Given the description of an element on the screen output the (x, y) to click on. 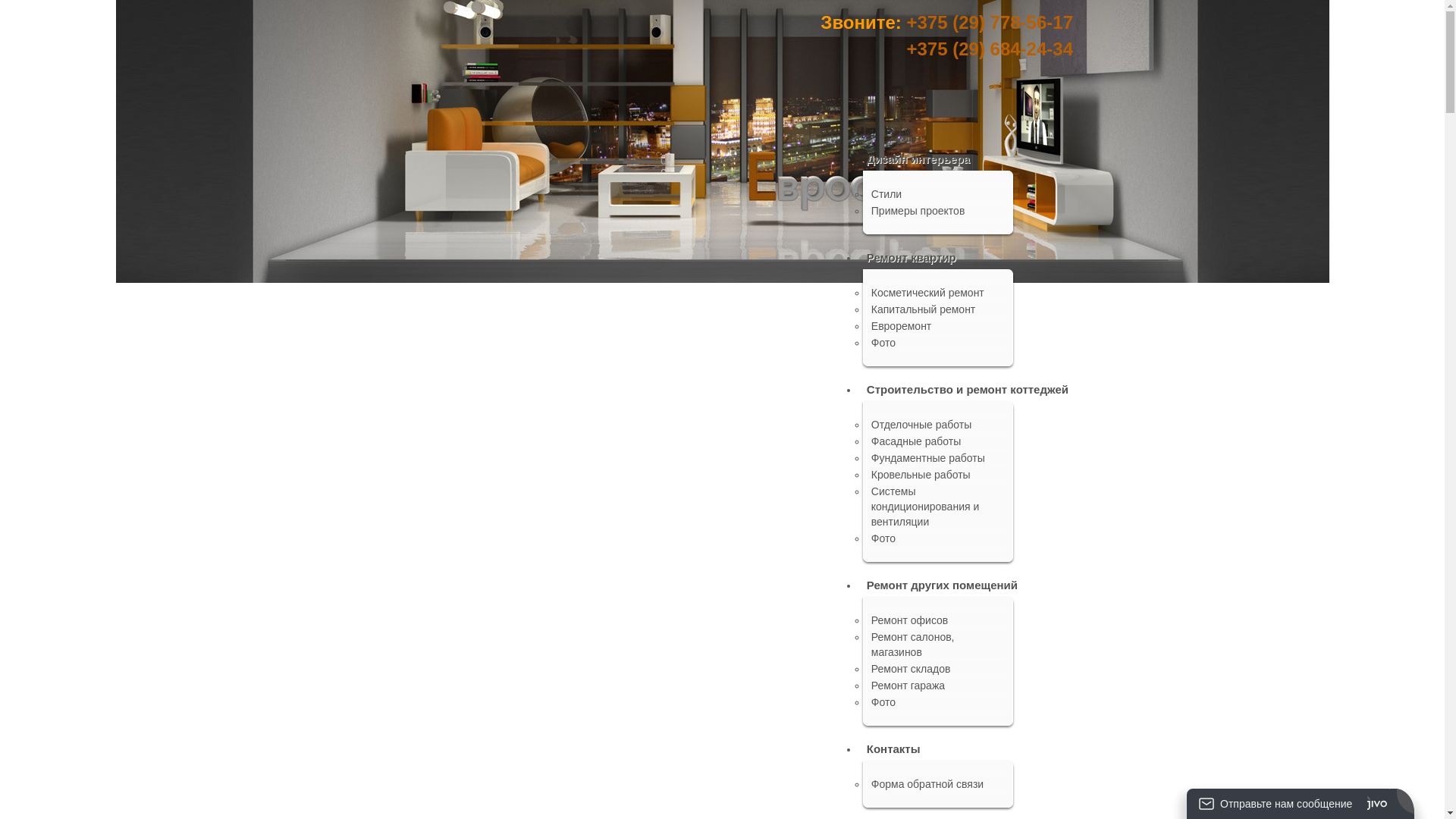
+375 (29) 778-56-17 Element type: text (989, 22)
+375 (29) 684-24-34 Element type: text (989, 48)
